Given the description of an element on the screen output the (x, y) to click on. 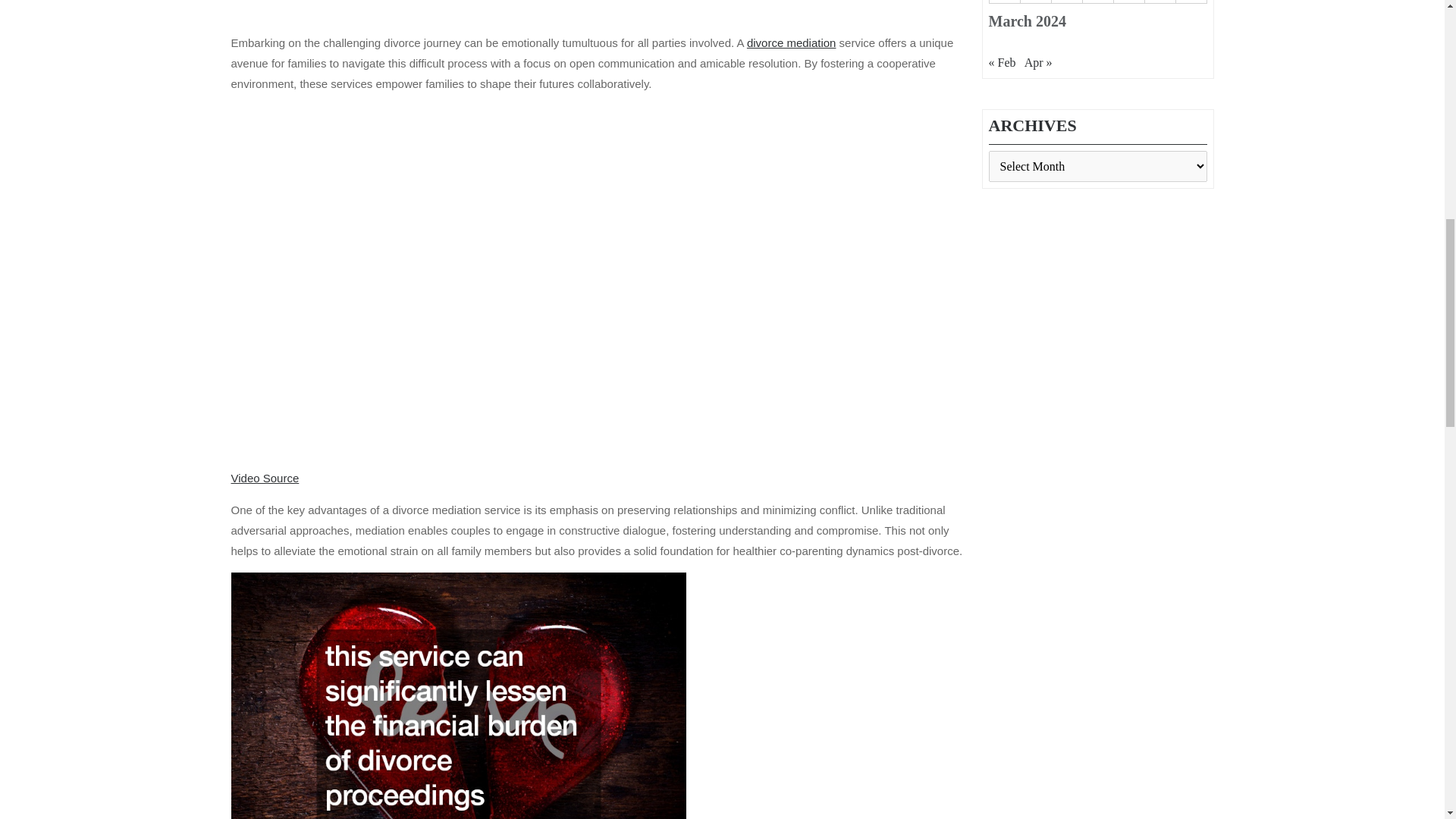
27 (1066, 1)
divorce mediation (790, 42)
Video Source (264, 477)
